Given the description of an element on the screen output the (x, y) to click on. 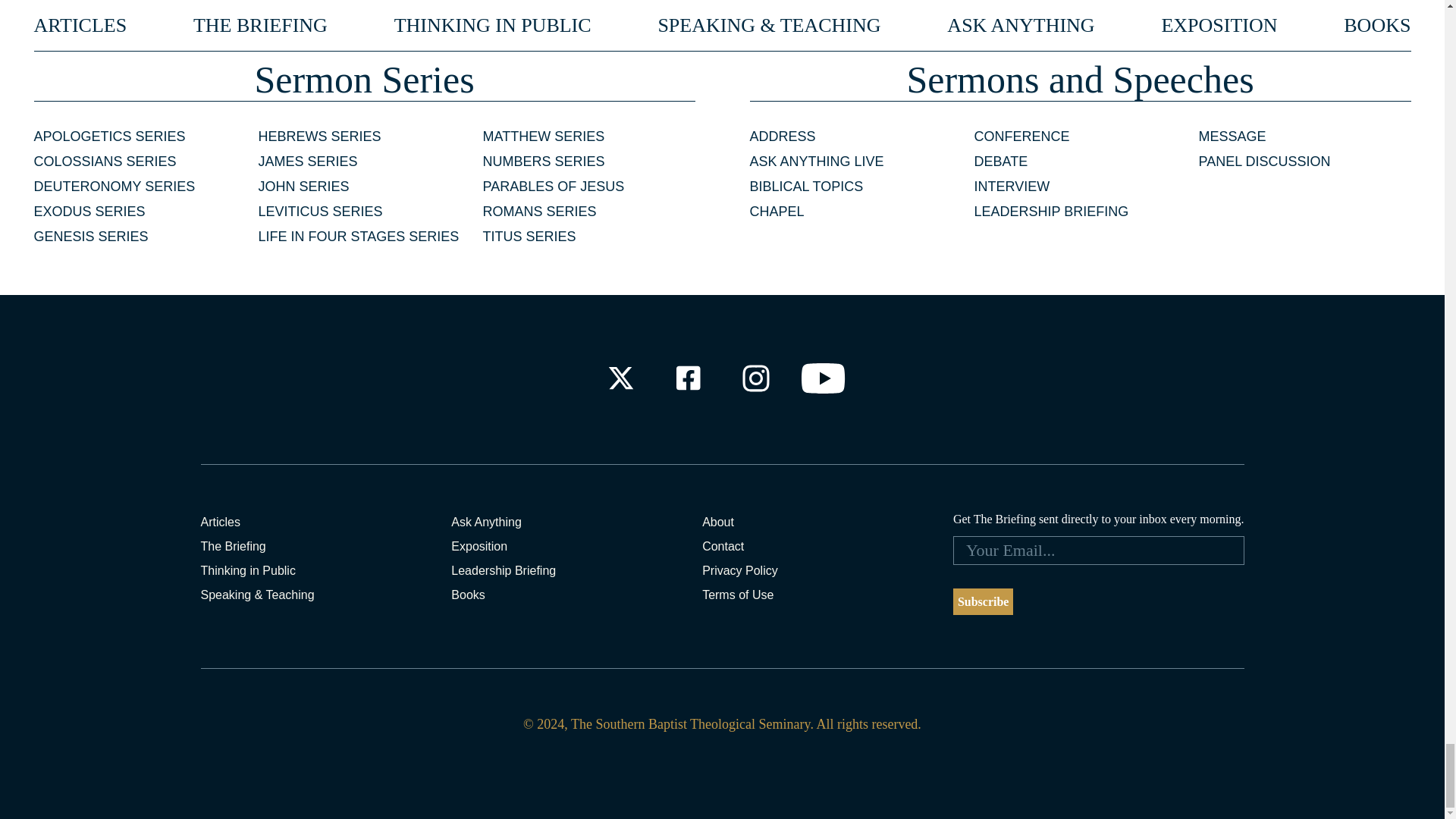
Subscribe (983, 601)
Check out our Facebook Profile (687, 377)
Check out our Instagram Profile (755, 377)
Check out our Youtube Channel (822, 377)
Check out our X Profile (620, 377)
